Given the description of an element on the screen output the (x, y) to click on. 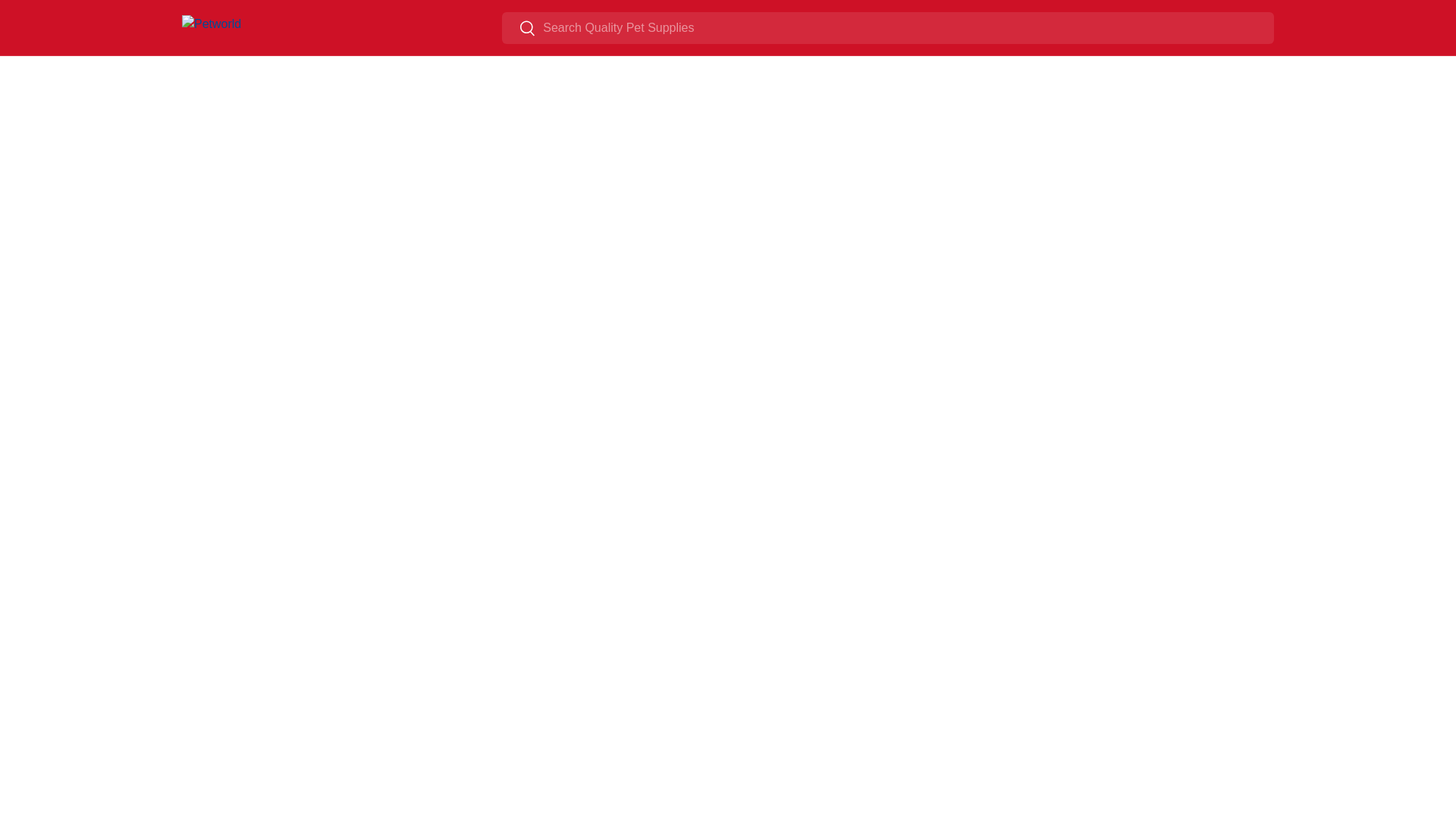
Skip to content (68, 21)
Search (518, 28)
